Given the description of an element on the screen output the (x, y) to click on. 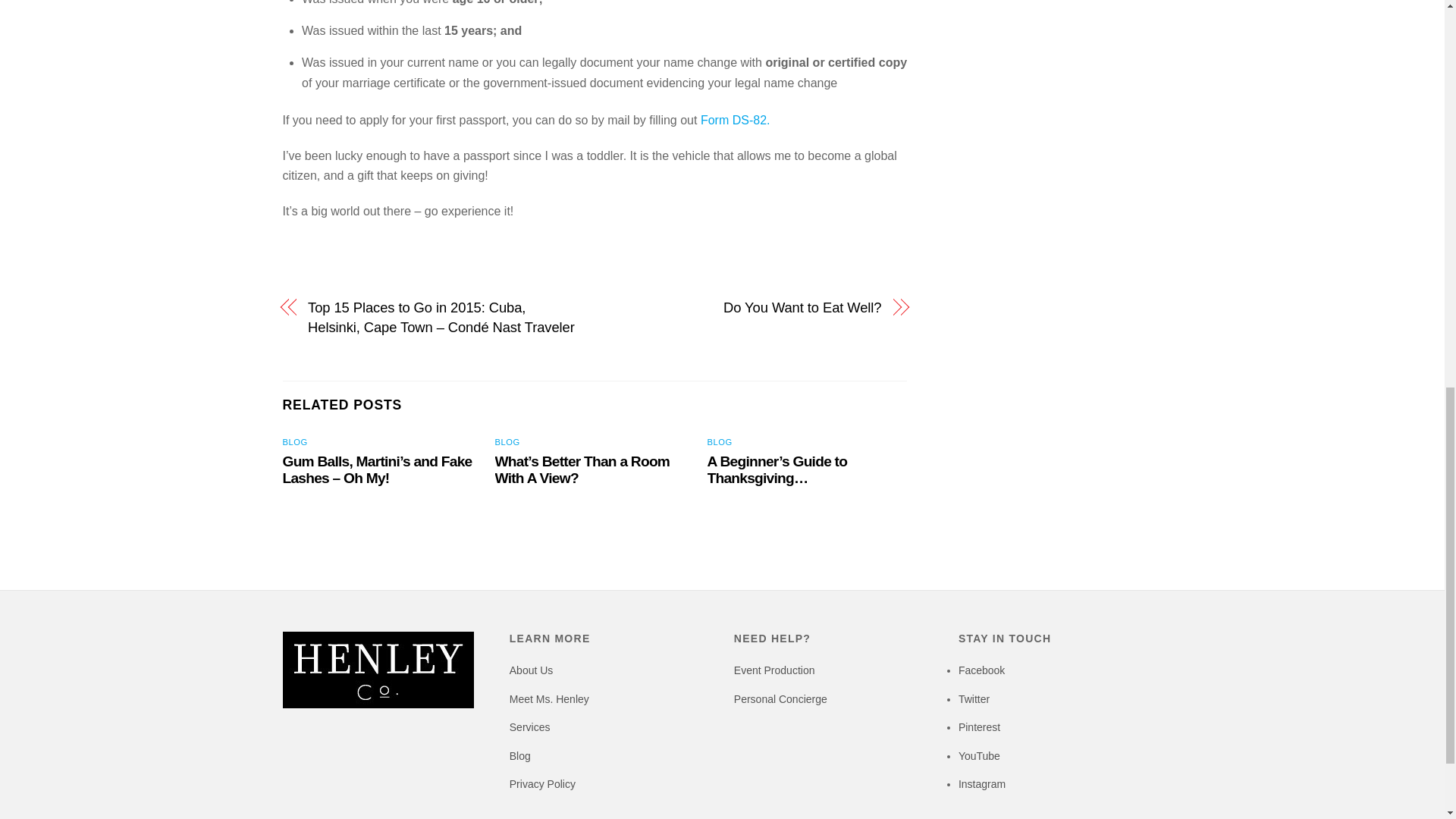
Form DS-82. (735, 119)
BLOG (507, 441)
Pinterest (979, 727)
BLOG (294, 441)
Twitter (974, 698)
YouTube (979, 756)
The Henley Company (377, 704)
Instagram (982, 784)
BLOG (719, 441)
Facebook (981, 670)
Do You Want to Eat Well? (746, 307)
